Given the description of an element on the screen output the (x, y) to click on. 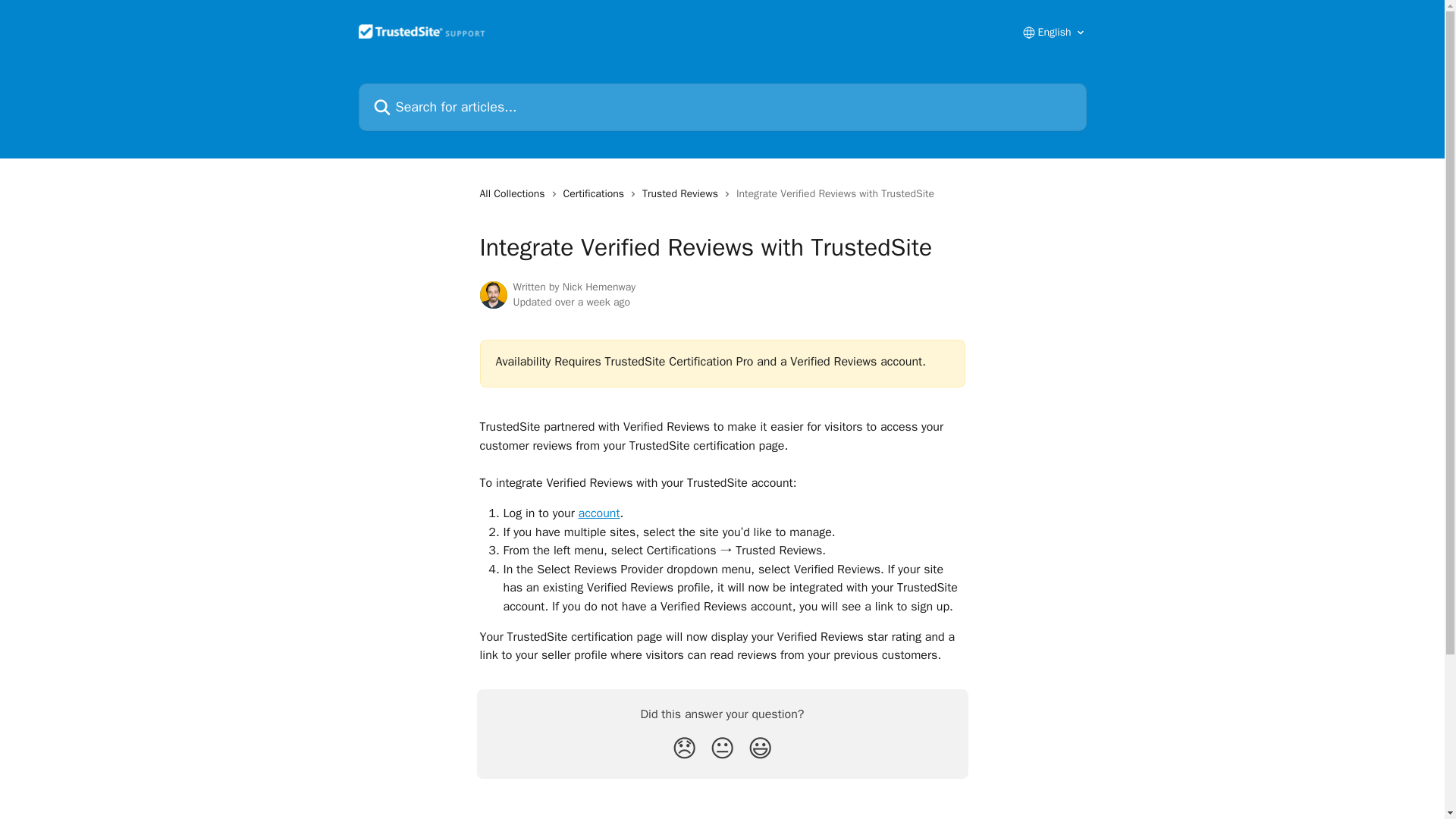
Certifications (596, 193)
All Collections (514, 193)
account (599, 513)
Trusted Reviews (682, 193)
